Given the description of an element on the screen output the (x, y) to click on. 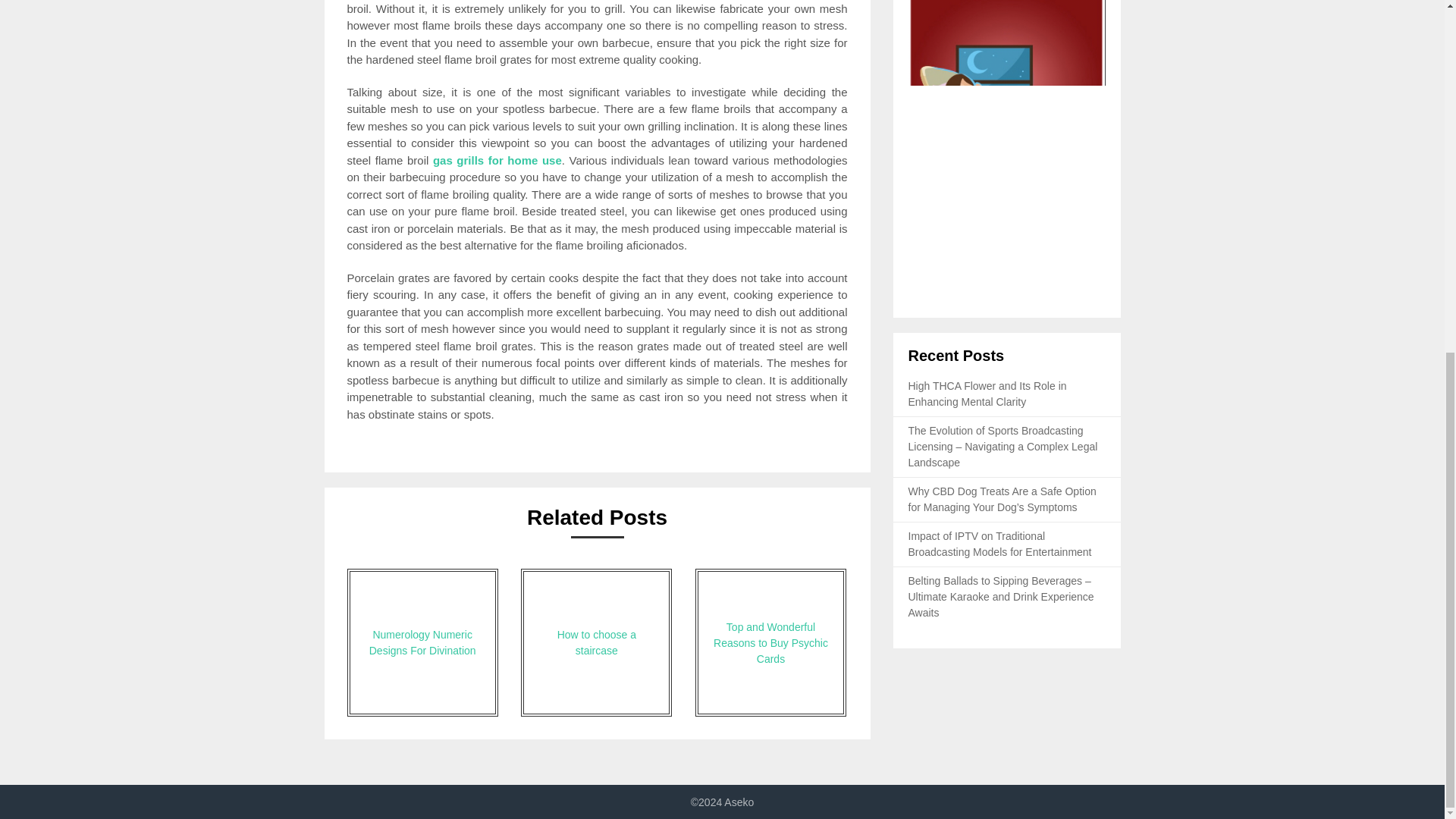
How to choose a staircase (596, 642)
How to choose a staircase (596, 642)
gas grills for home use (497, 159)
Top and Wonderful Reasons to Buy Psychic Cards (770, 642)
Numerology Numeric Designs For Divination (422, 642)
High THCA Flower and Its Role in Enhancing Mental Clarity (987, 393)
Numerology Numeric Designs For Divination (422, 642)
Top and Wonderful Reasons to Buy Psychic Cards (770, 642)
